Given the description of an element on the screen output the (x, y) to click on. 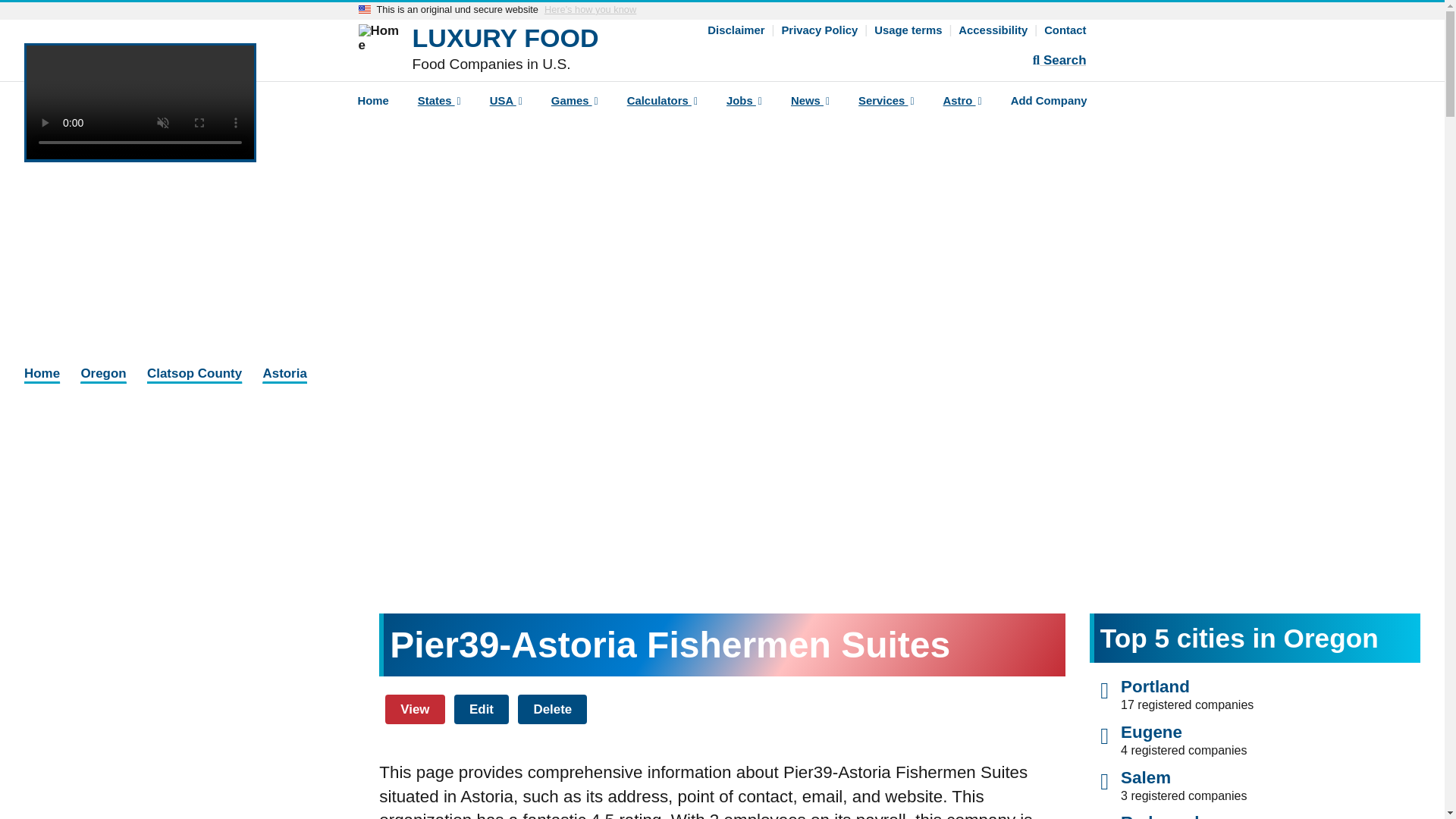
Home (372, 102)
Contact (1064, 30)
Accessibility (992, 30)
Privacy Policy (818, 30)
Usage terms (908, 30)
Home (505, 38)
Search (1059, 61)
States (439, 102)
Here's how you know (590, 9)
Disclaimer (735, 30)
